Given the description of an element on the screen output the (x, y) to click on. 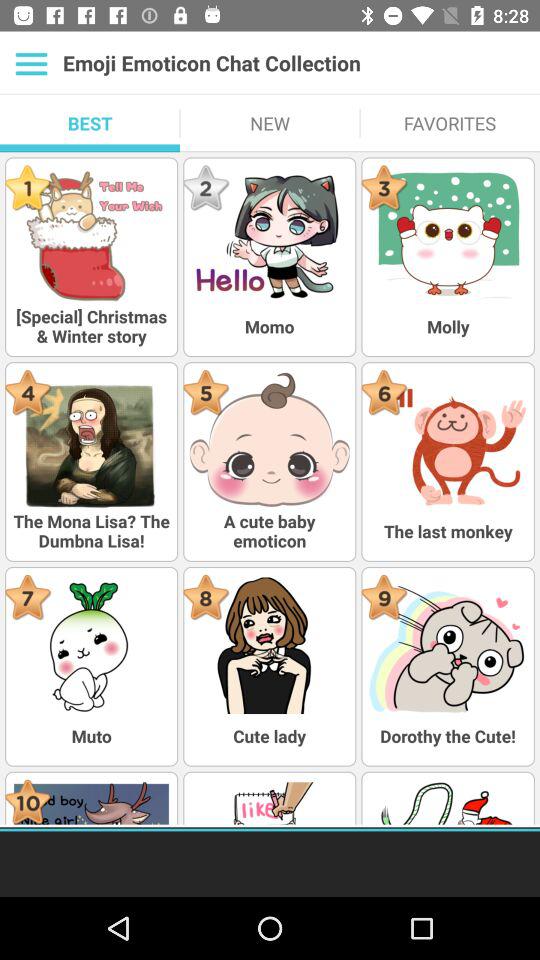
swipe to the favorites app (450, 123)
